Given the description of an element on the screen output the (x, y) to click on. 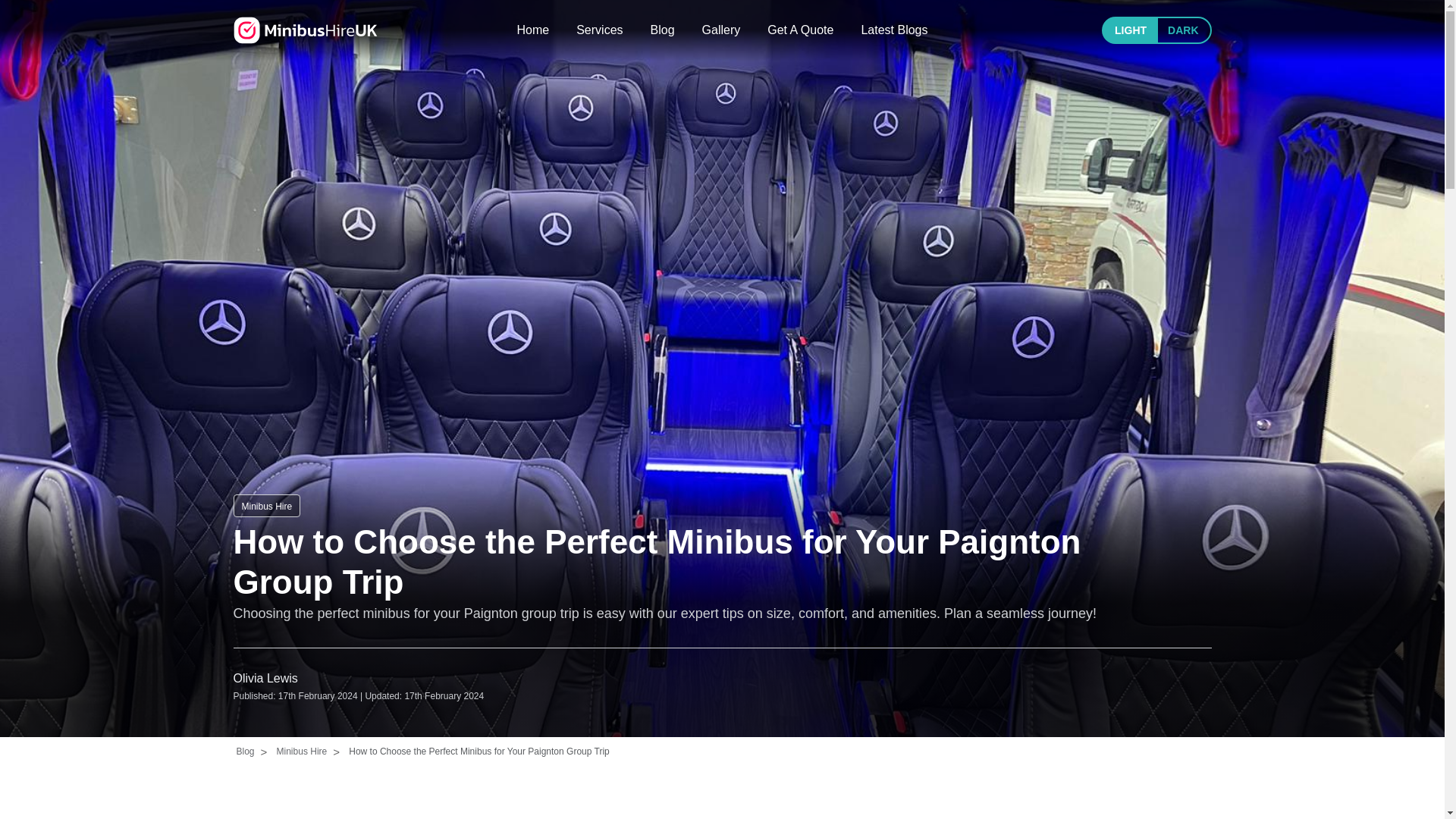
Latest Blogs (893, 30)
Get A Quote (799, 30)
Minibus Hire (304, 29)
Get A Quote (799, 30)
Latest Blogs (893, 30)
